Given the description of an element on the screen output the (x, y) to click on. 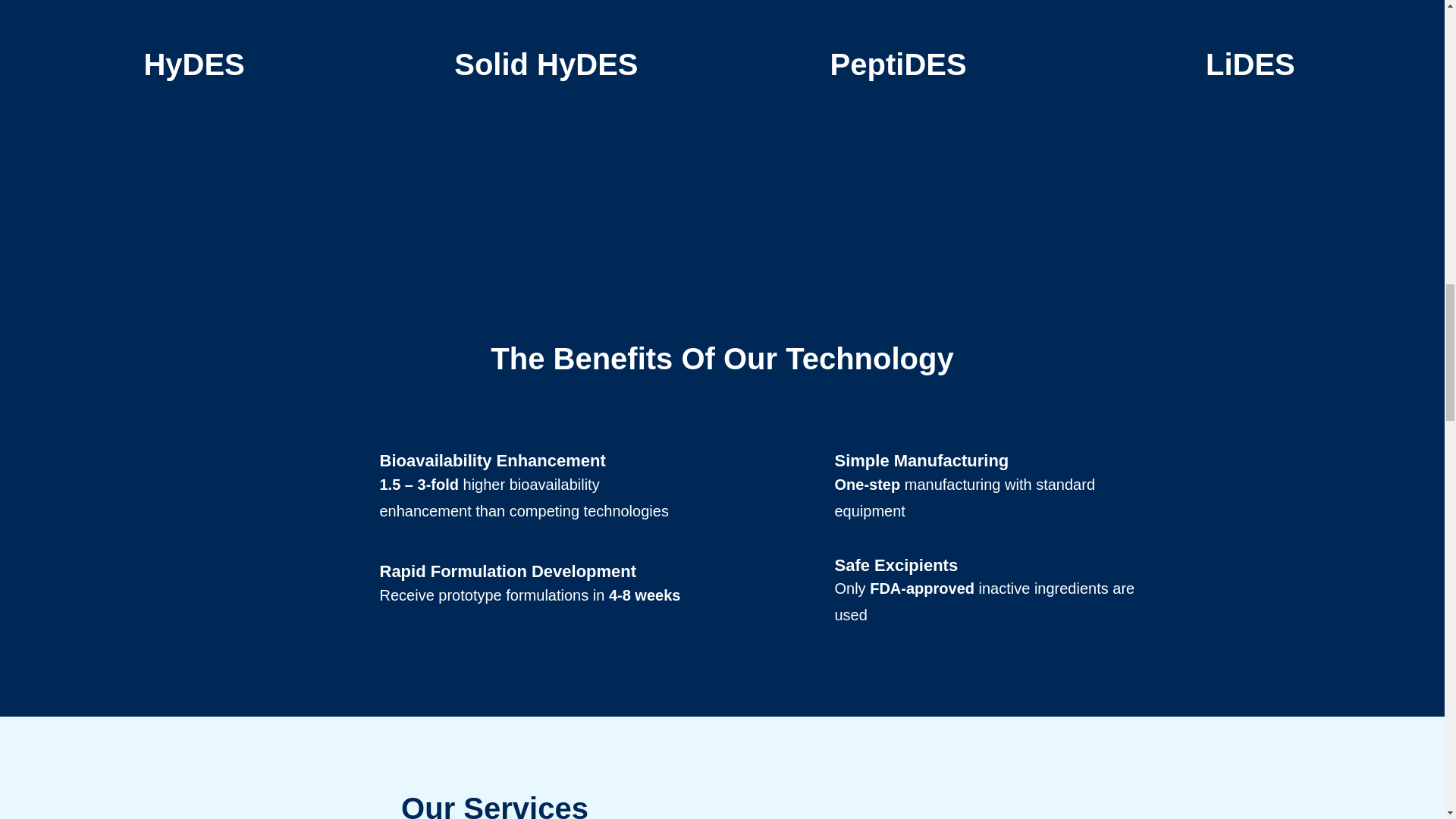
HyDES (193, 64)
LiDES (1250, 64)
Solid HyDES (545, 153)
PeptiDES (897, 64)
